Given the description of an element on the screen output the (x, y) to click on. 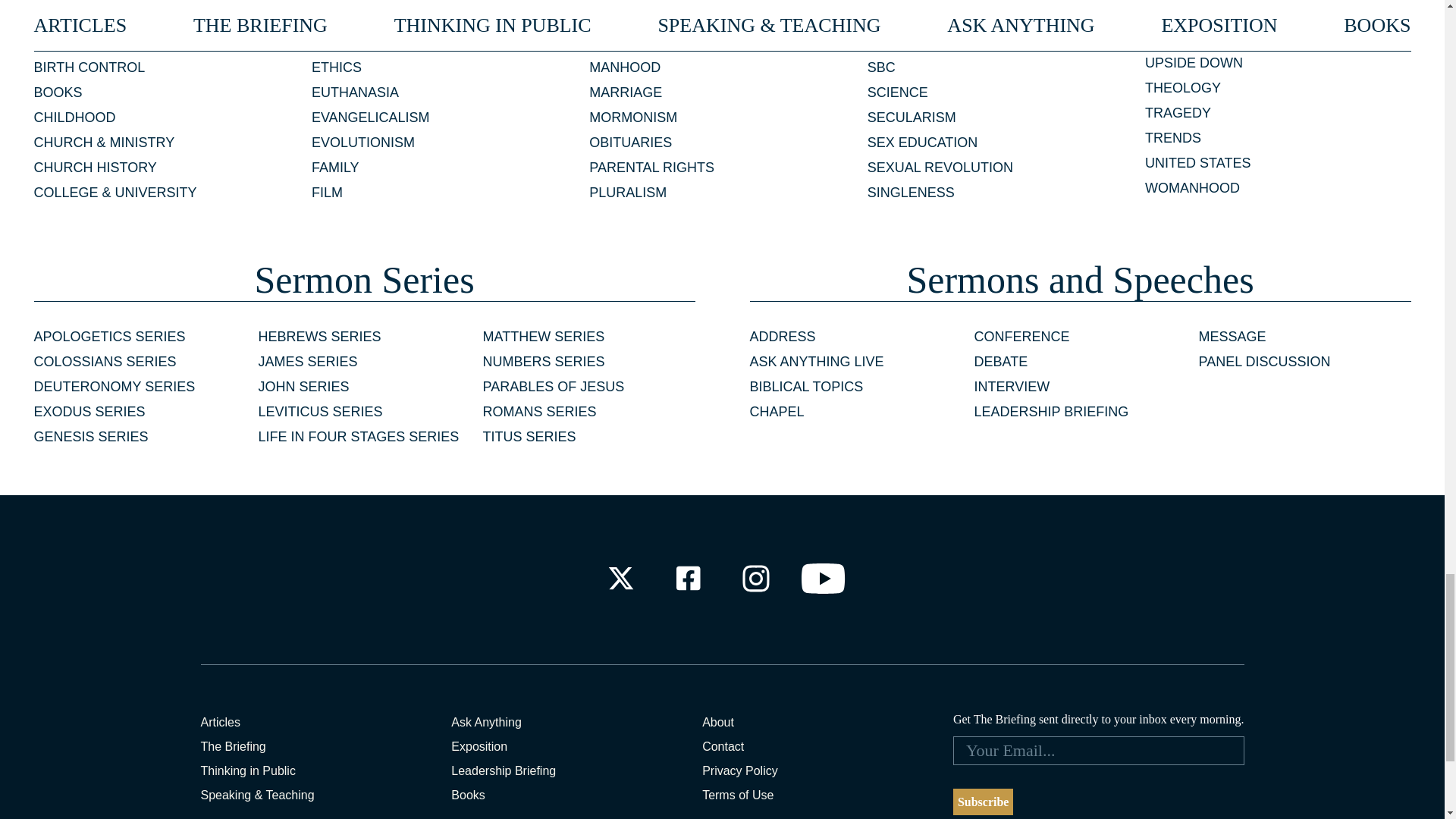
Check out our Facebook Profile (687, 578)
Subscribe (983, 801)
Check out our X Profile (620, 578)
Check out our Youtube Channel (822, 578)
Check out our Instagram Profile (755, 578)
